Given the description of an element on the screen output the (x, y) to click on. 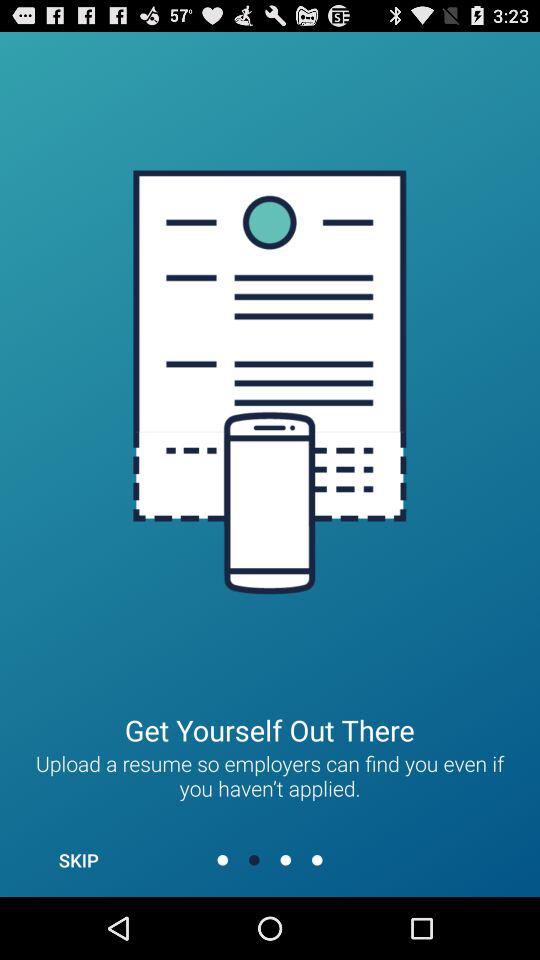
jump to skip icon (78, 859)
